Given the description of an element on the screen output the (x, y) to click on. 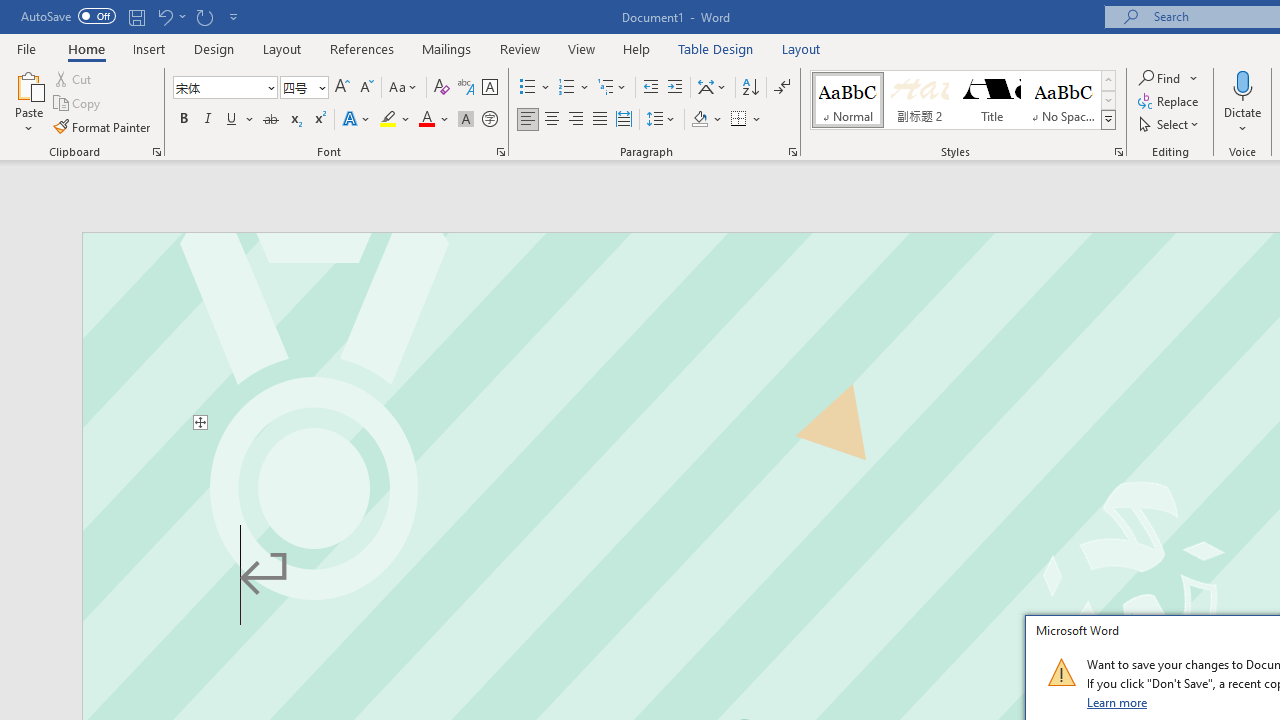
AutomationID: QuickStylesGallery (963, 99)
Repeat Text Fill Effect (204, 15)
